Given the description of an element on the screen output the (x, y) to click on. 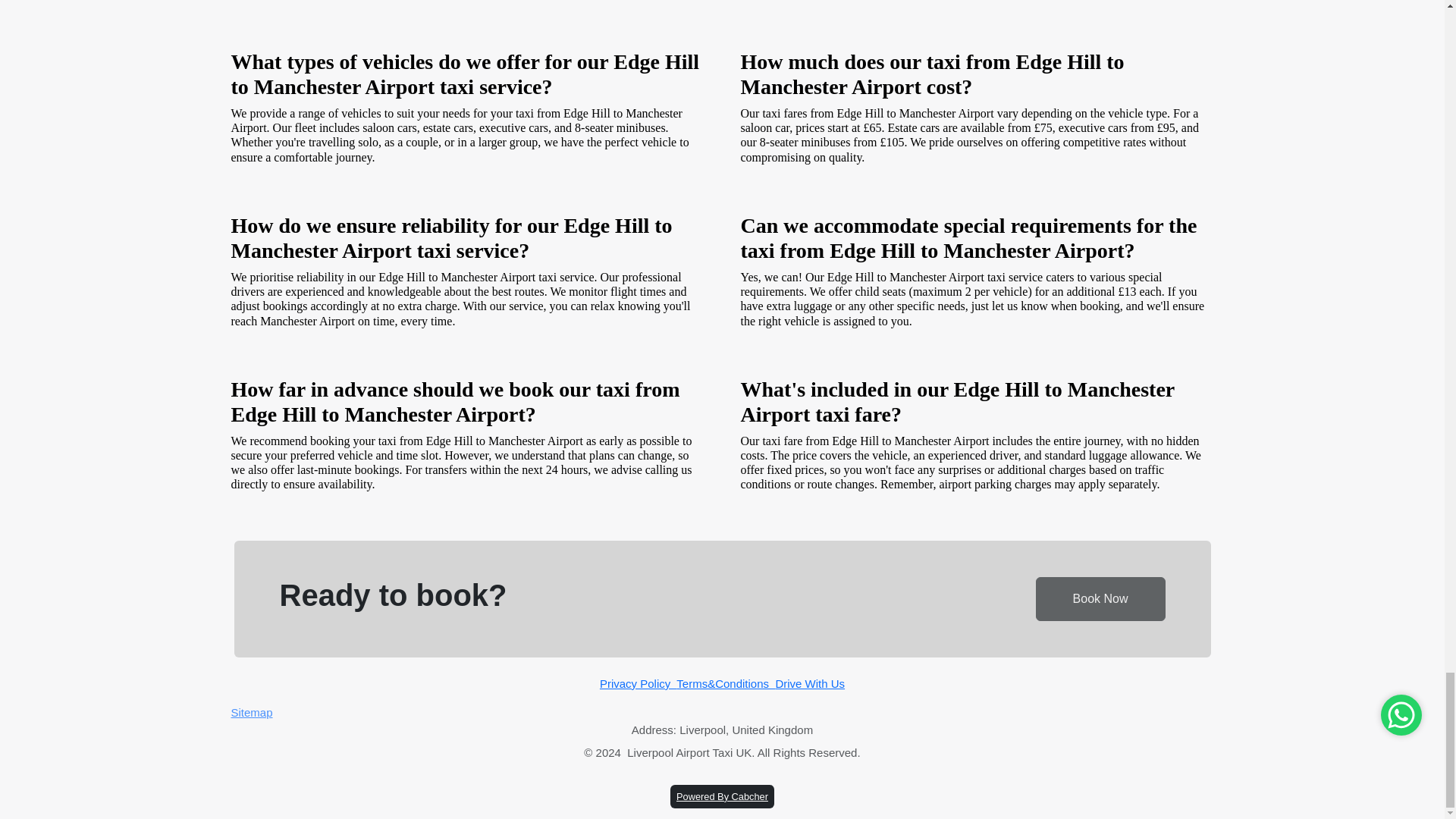
Book Now (1100, 598)
Sitemap (722, 712)
Book Now (1100, 597)
Powered By Cabcher (721, 796)
Drive With Us (809, 683)
Privacy Policy   (638, 683)
